Given the description of an element on the screen output the (x, y) to click on. 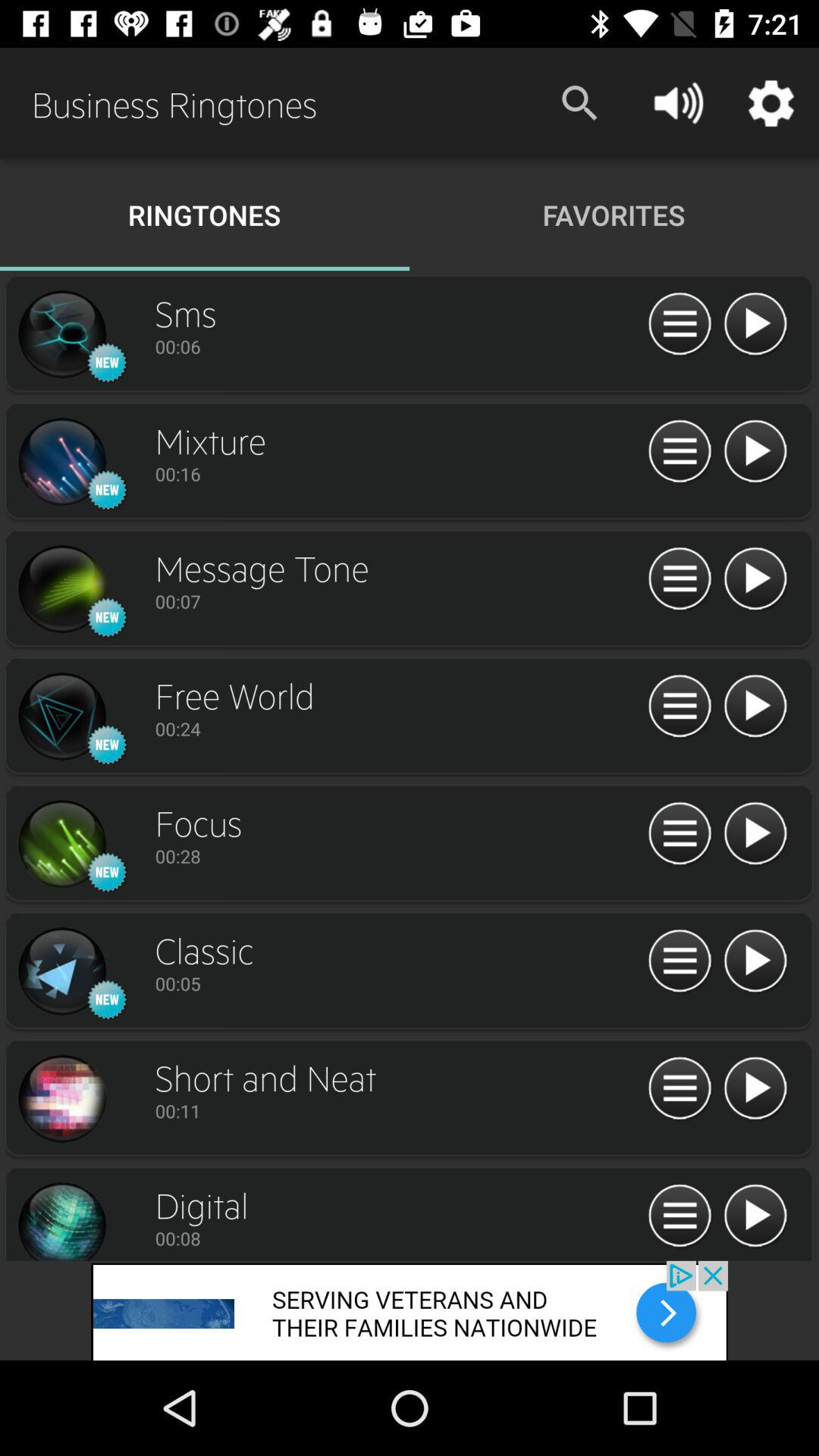
play (755, 579)
